Given the description of an element on the screen output the (x, y) to click on. 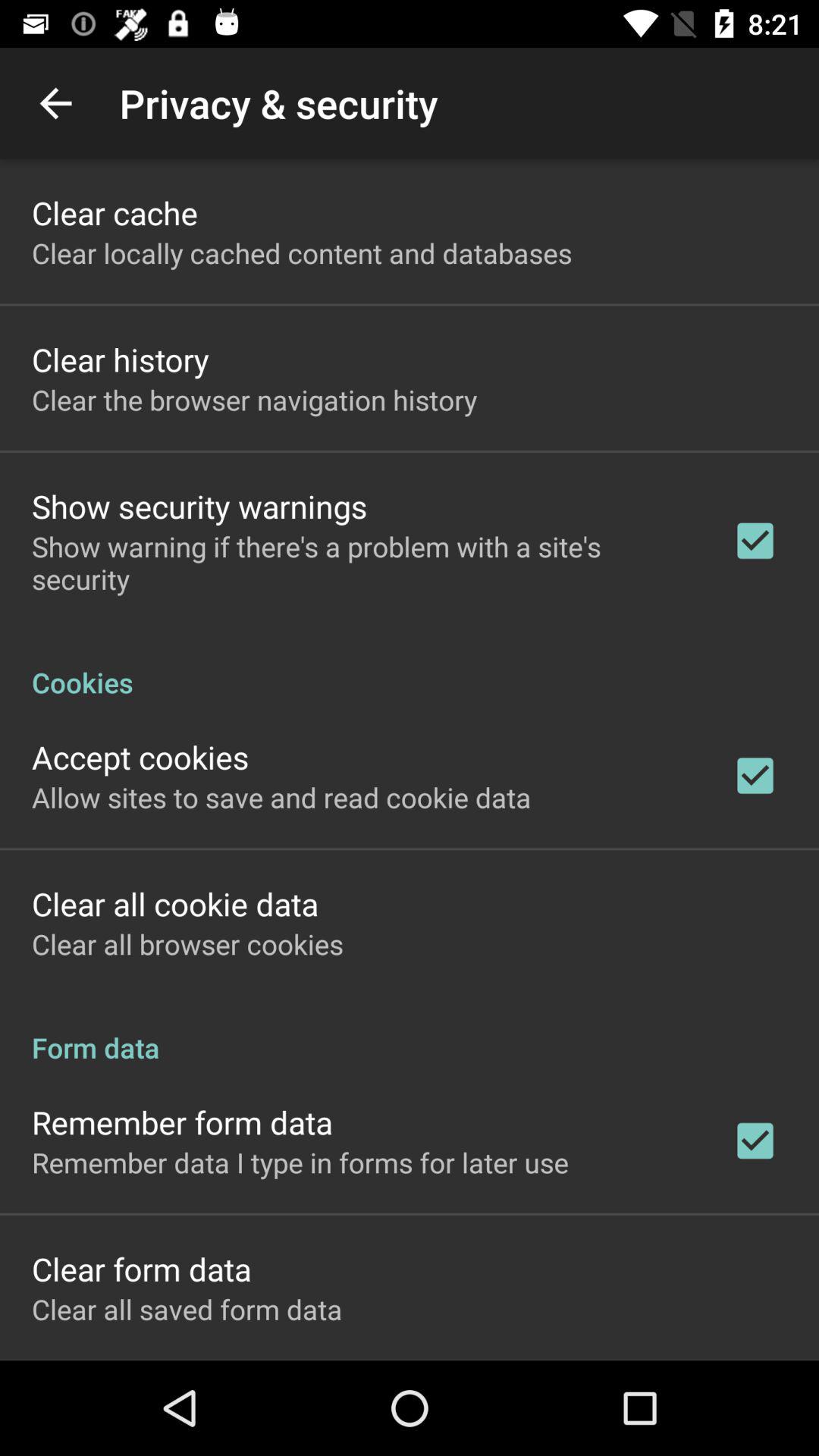
jump to clear cache app (114, 212)
